Given the description of an element on the screen output the (x, y) to click on. 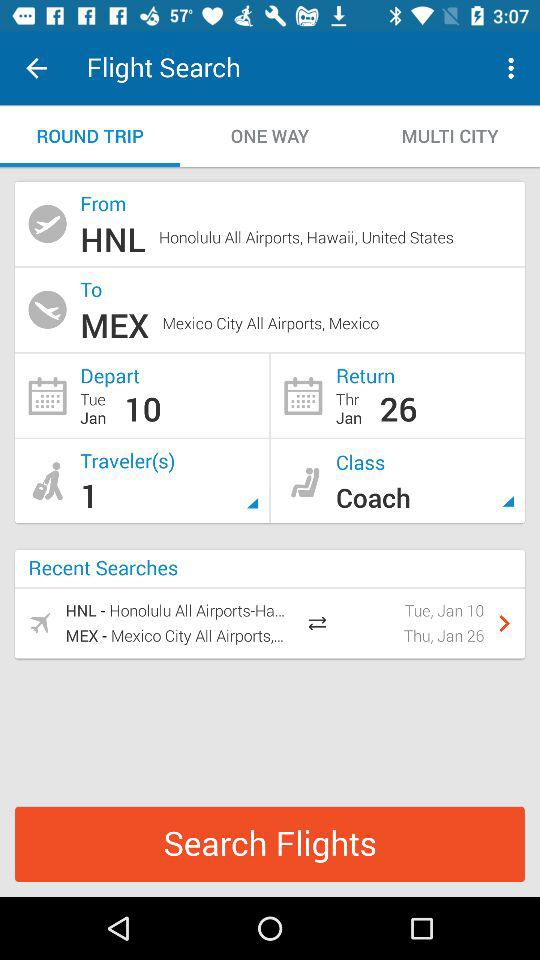
select the item next to the one way item (450, 136)
